Given the description of an element on the screen output the (x, y) to click on. 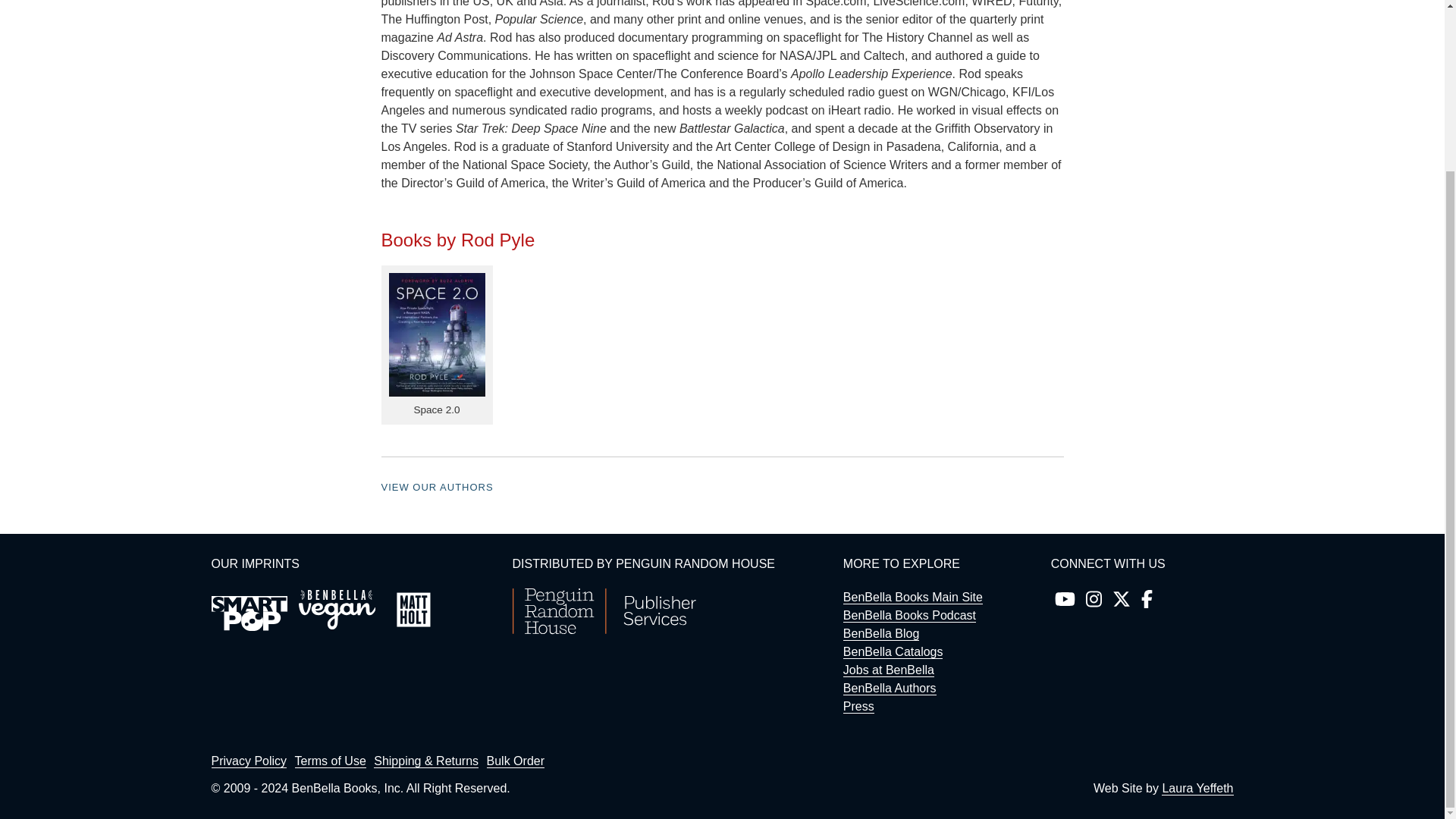
Search (1147, 122)
BenBella Books Podcast (909, 615)
Matt Holt Books (413, 609)
BenBella Blog (881, 633)
BenBella Books Main Site (912, 597)
SmartPop Books (248, 613)
Penguin Random House (603, 630)
BenBella Vegan (336, 609)
VIEW OUR AUTHORS (436, 487)
